Given the description of an element on the screen output the (x, y) to click on. 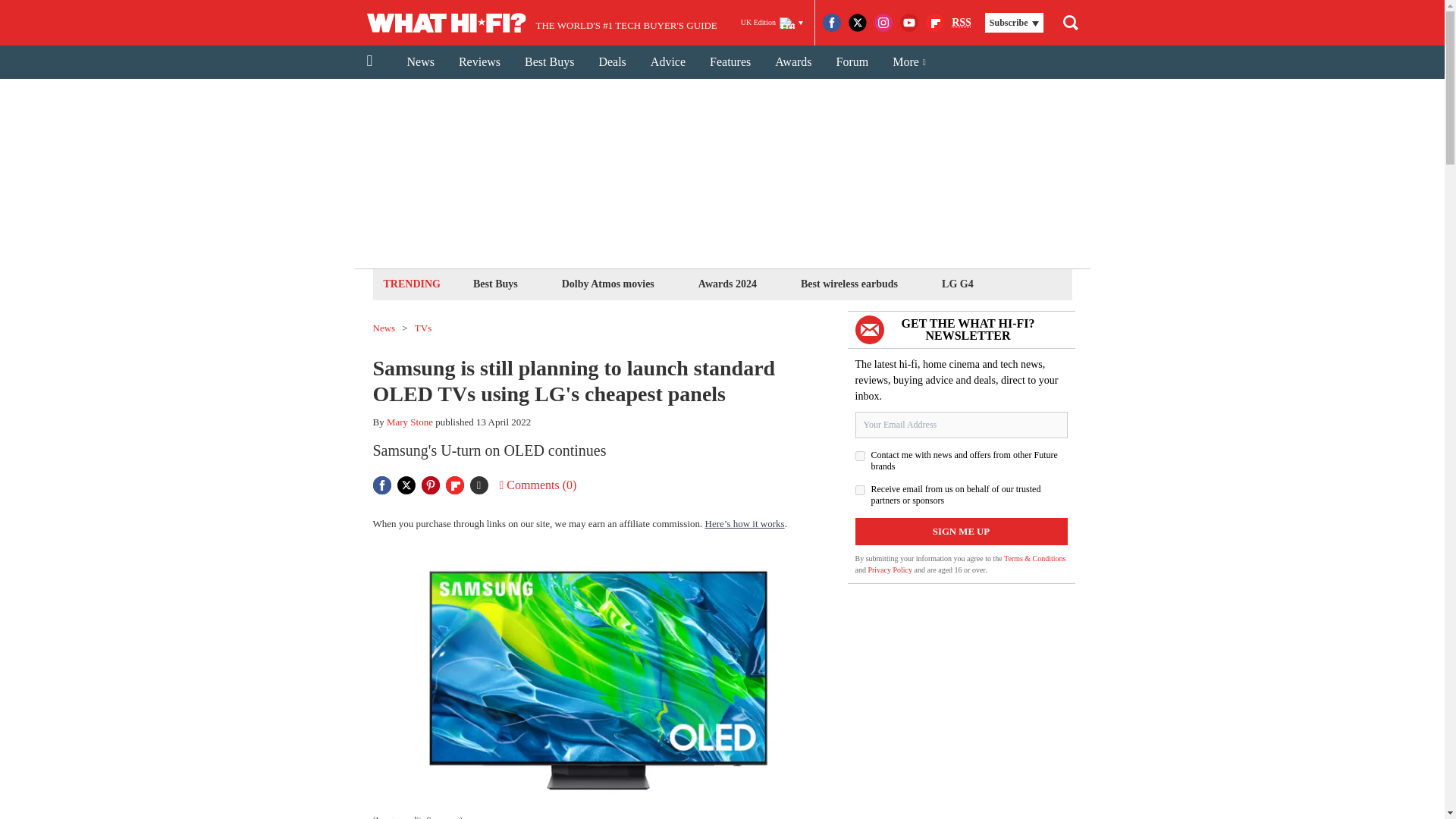
on (860, 490)
Awards (793, 61)
Really Simple Syndication (961, 21)
Features (729, 61)
Forum (852, 61)
Reviews (479, 61)
Awards 2024 (727, 283)
LG G4 (957, 283)
Sign me up (961, 531)
Best Buys (494, 283)
UK Edition (771, 22)
on (860, 456)
News (419, 61)
Advice (668, 61)
Deals (611, 61)
